Given the description of an element on the screen output the (x, y) to click on. 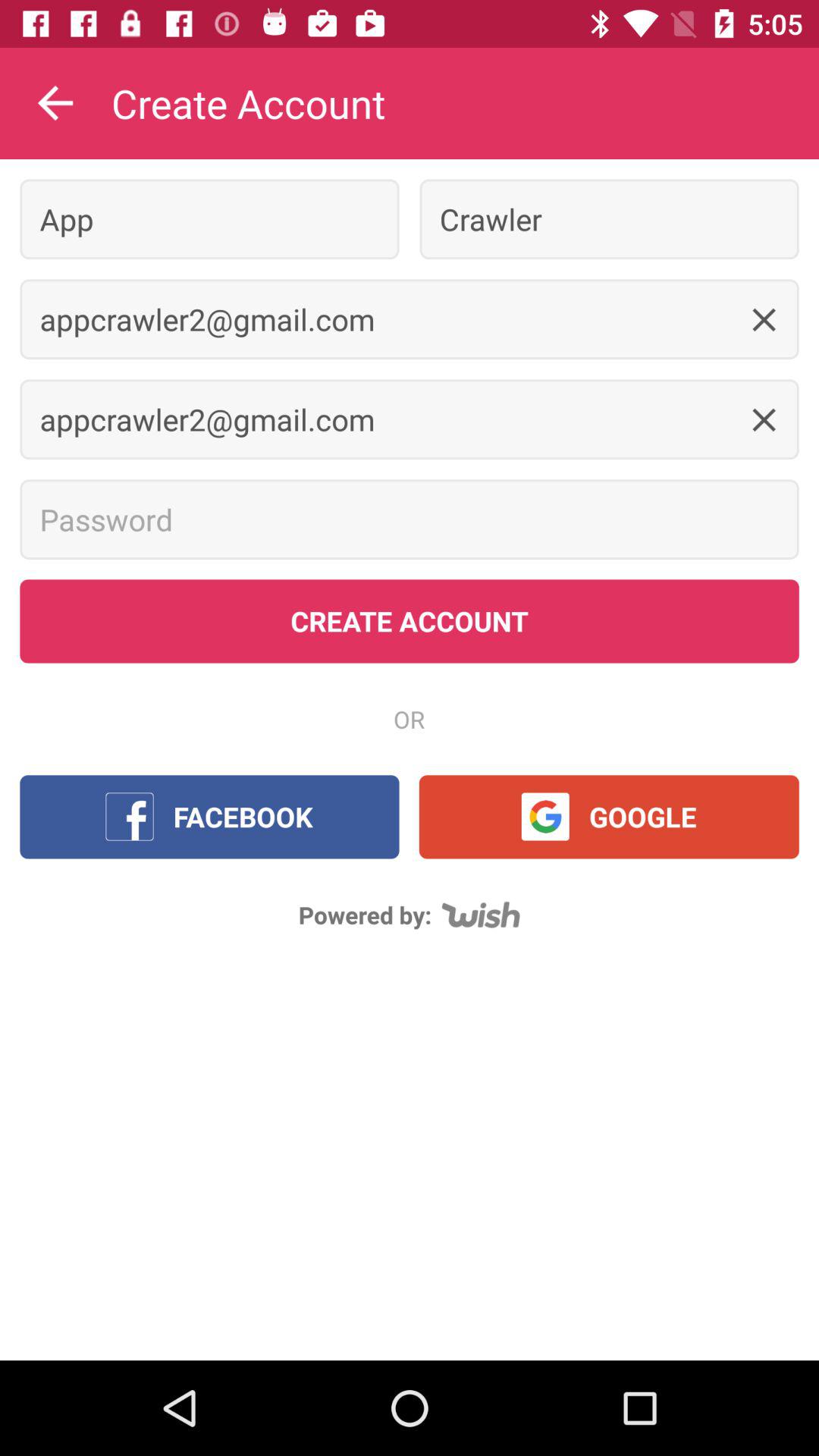
select item to the left of crawler (209, 219)
